Given the description of an element on the screen output the (x, y) to click on. 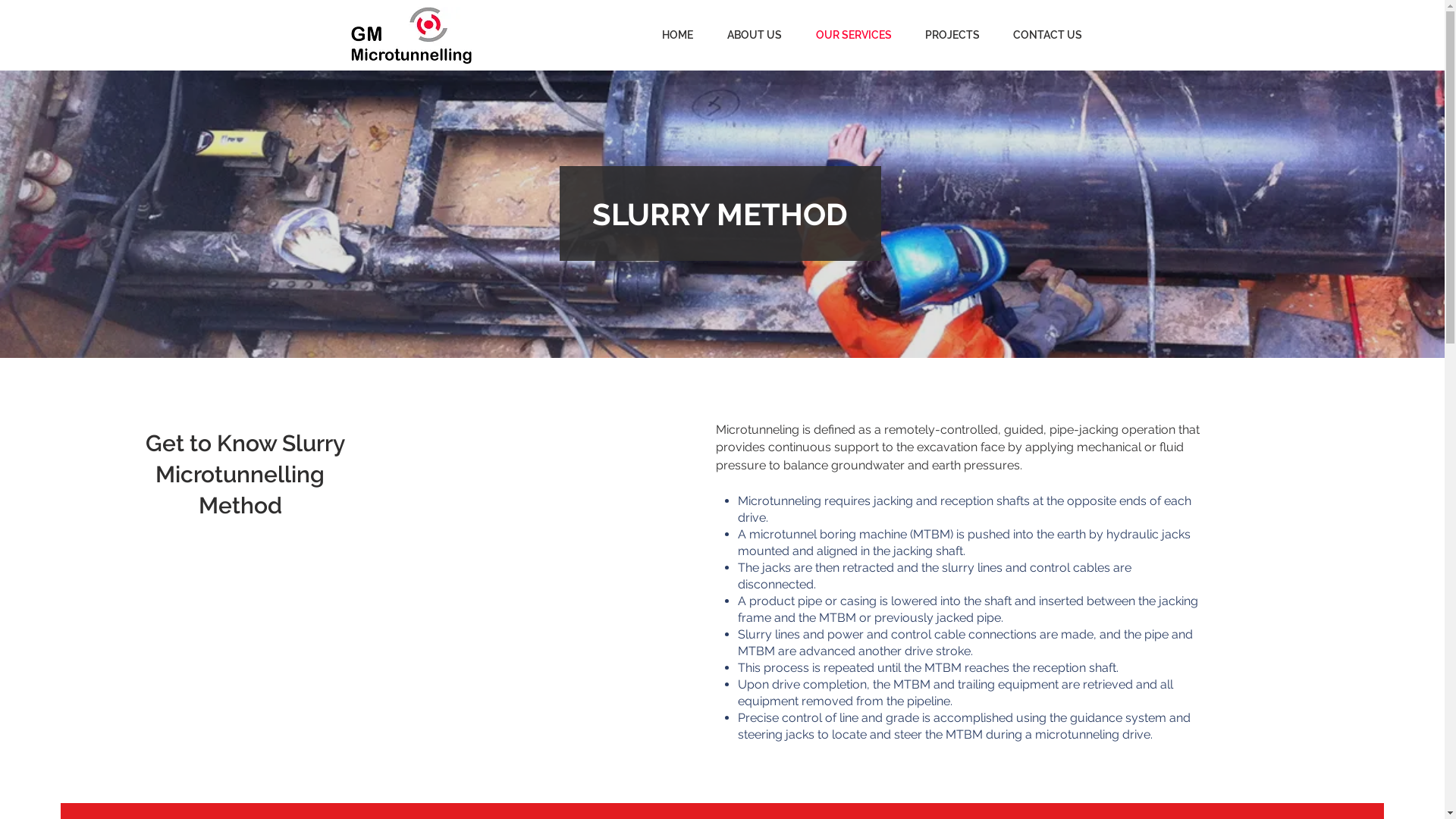
PROJECTS Element type: text (946, 34)
CONTACT US Element type: text (1041, 34)
OUR SERVICES Element type: text (848, 34)
ABOUT US Element type: text (747, 34)
HOME Element type: text (670, 34)
